Given the description of an element on the screen output the (x, y) to click on. 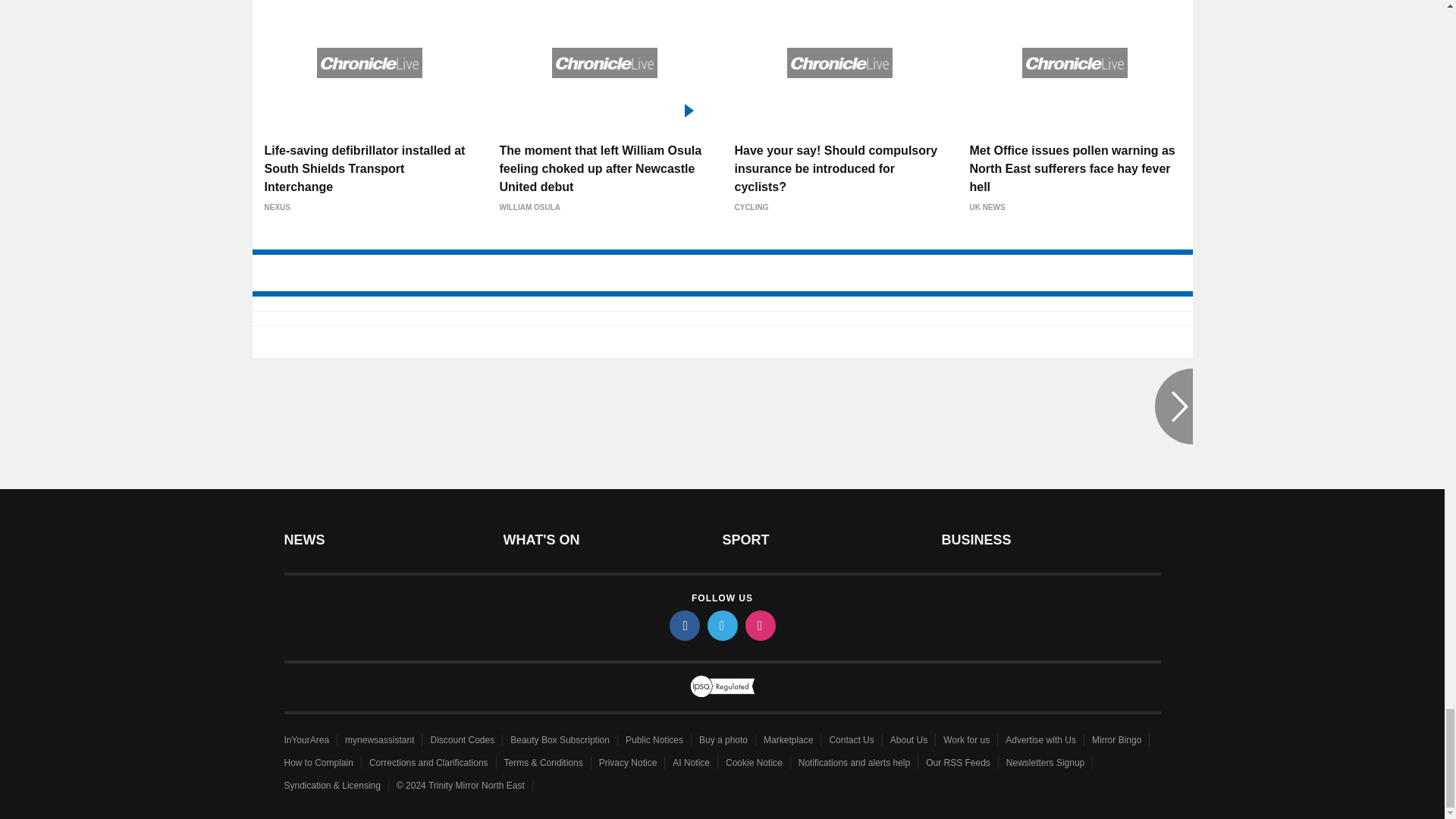
instagram (759, 625)
twitter (721, 625)
facebook (683, 625)
